Given the description of an element on the screen output the (x, y) to click on. 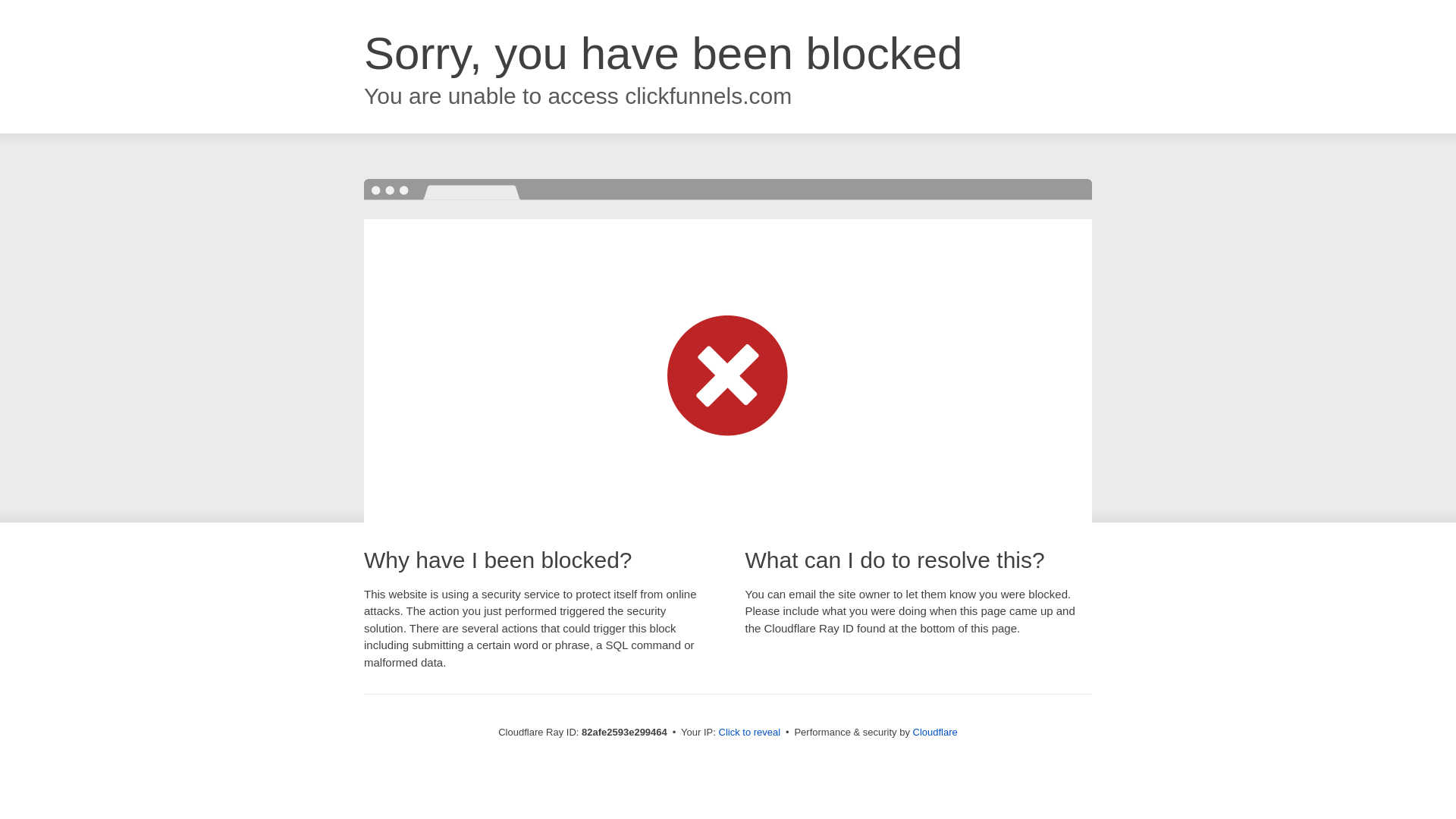
Click to reveal Element type: text (749, 732)
Cloudflare Element type: text (935, 731)
